Given the description of an element on the screen output the (x, y) to click on. 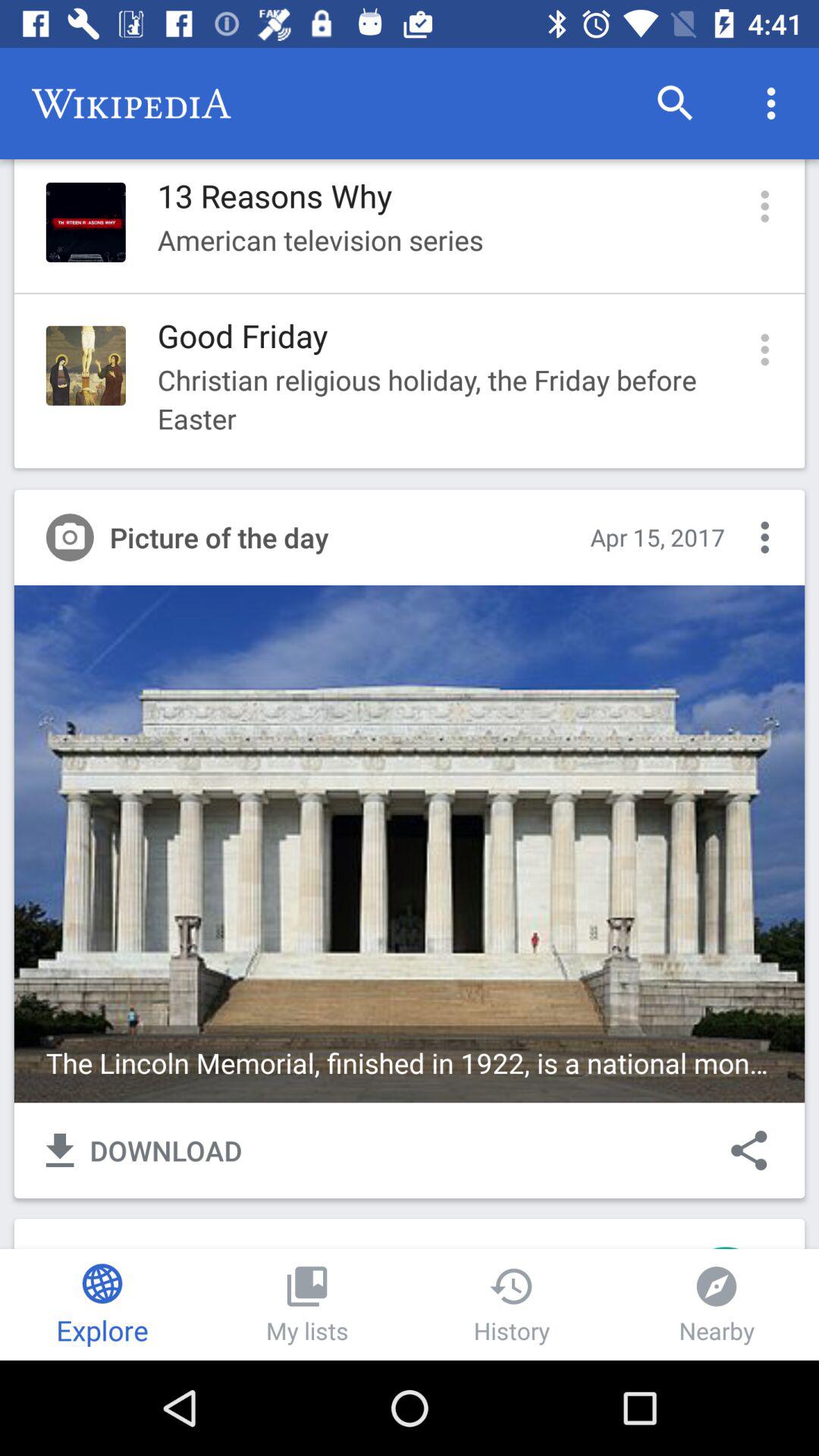
click on the image beside the text 13 reasons why (85, 222)
click on the more option symbol beside search option (771, 103)
click on near by (716, 1304)
select the image (409, 843)
go to left of good friday (85, 366)
